Given the description of an element on the screen output the (x, y) to click on. 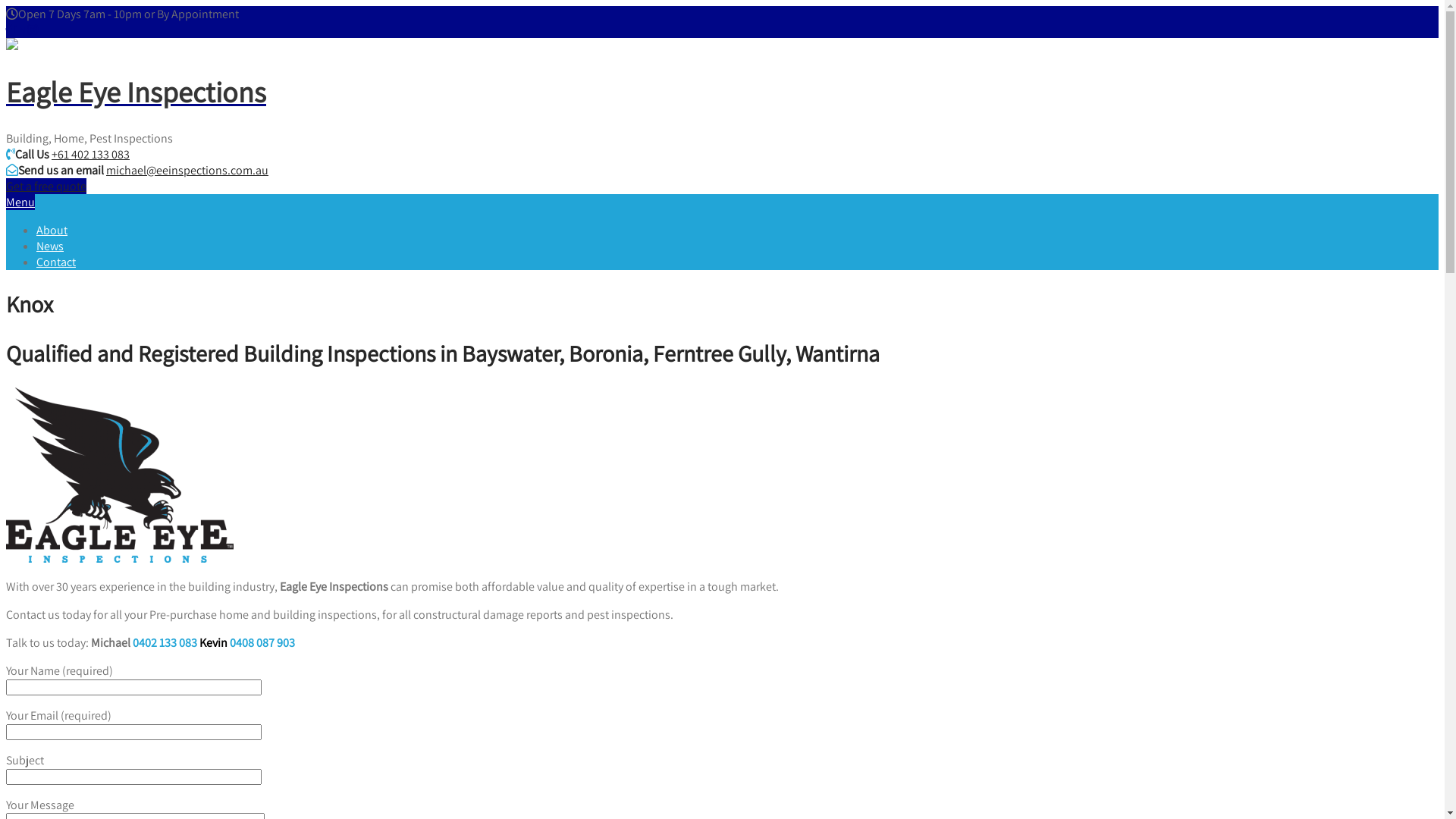
Menu Element type: text (20, 202)
Eagle Eye Inspections Element type: text (722, 108)
About Element type: text (51, 230)
Contact Element type: text (55, 261)
Get a free quote Element type: text (46, 186)
News Element type: text (49, 246)
michael@eeinspections.com.au Element type: text (187, 170)
+61 402 133 083 Element type: text (90, 154)
